Given the description of an element on the screen output the (x, y) to click on. 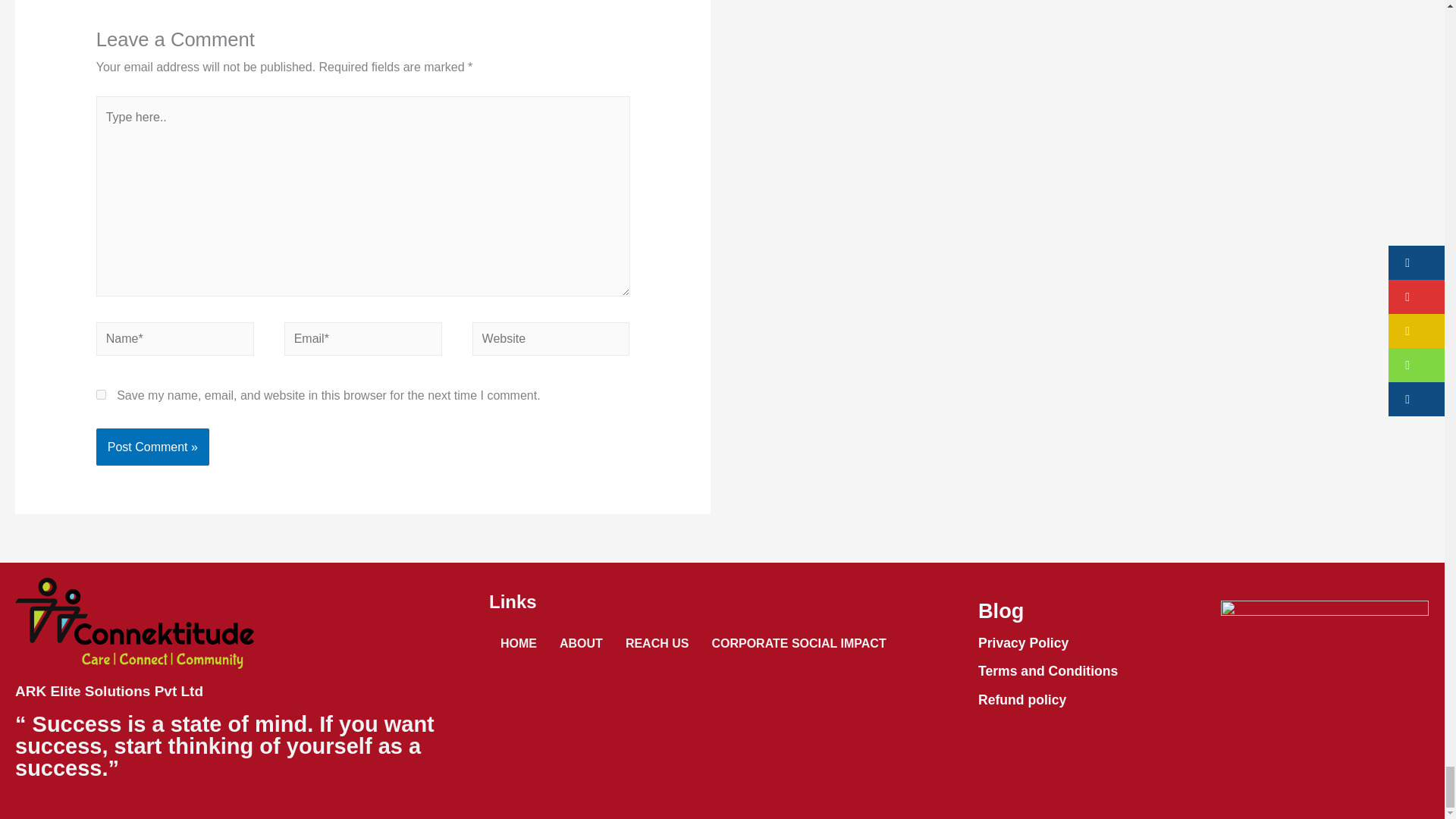
CORPORATE SOCIAL IMPACT (798, 643)
REACH US (657, 643)
Privacy Policy (1023, 642)
ABOUT (581, 643)
Refund policy (1021, 699)
HOME (518, 643)
Terms and Conditions (1048, 670)
yes (101, 394)
